Given the description of an element on the screen output the (x, y) to click on. 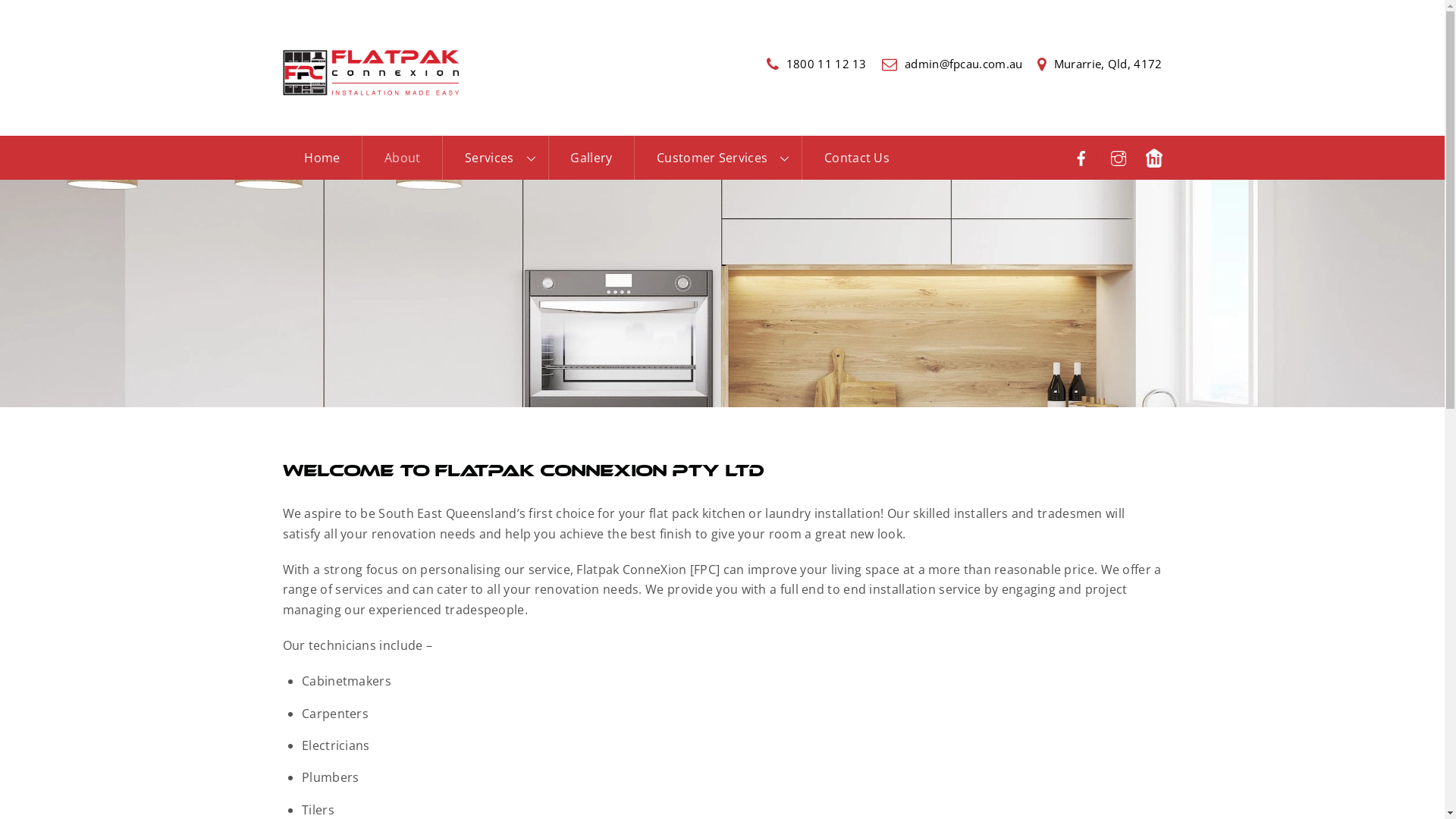
admin@fpcau.com.au Element type: text (951, 63)
Customer Services Element type: text (717, 157)
Gallery Element type: text (591, 157)
Contact Us Element type: text (856, 157)
Services Element type: text (494, 157)
1800 11 12 13 Element type: text (816, 63)
Home Element type: text (321, 157)
Murarrie, Qld, 4172 Element type: text (1099, 63)
FPC-R FlatPak ConneXion Pty Ltd Element type: hover (370, 72)
About Element type: text (401, 157)
FPC-R FlatPak ConneXion Pty Ltd Element type: hover (370, 88)
